Given the description of an element on the screen output the (x, y) to click on. 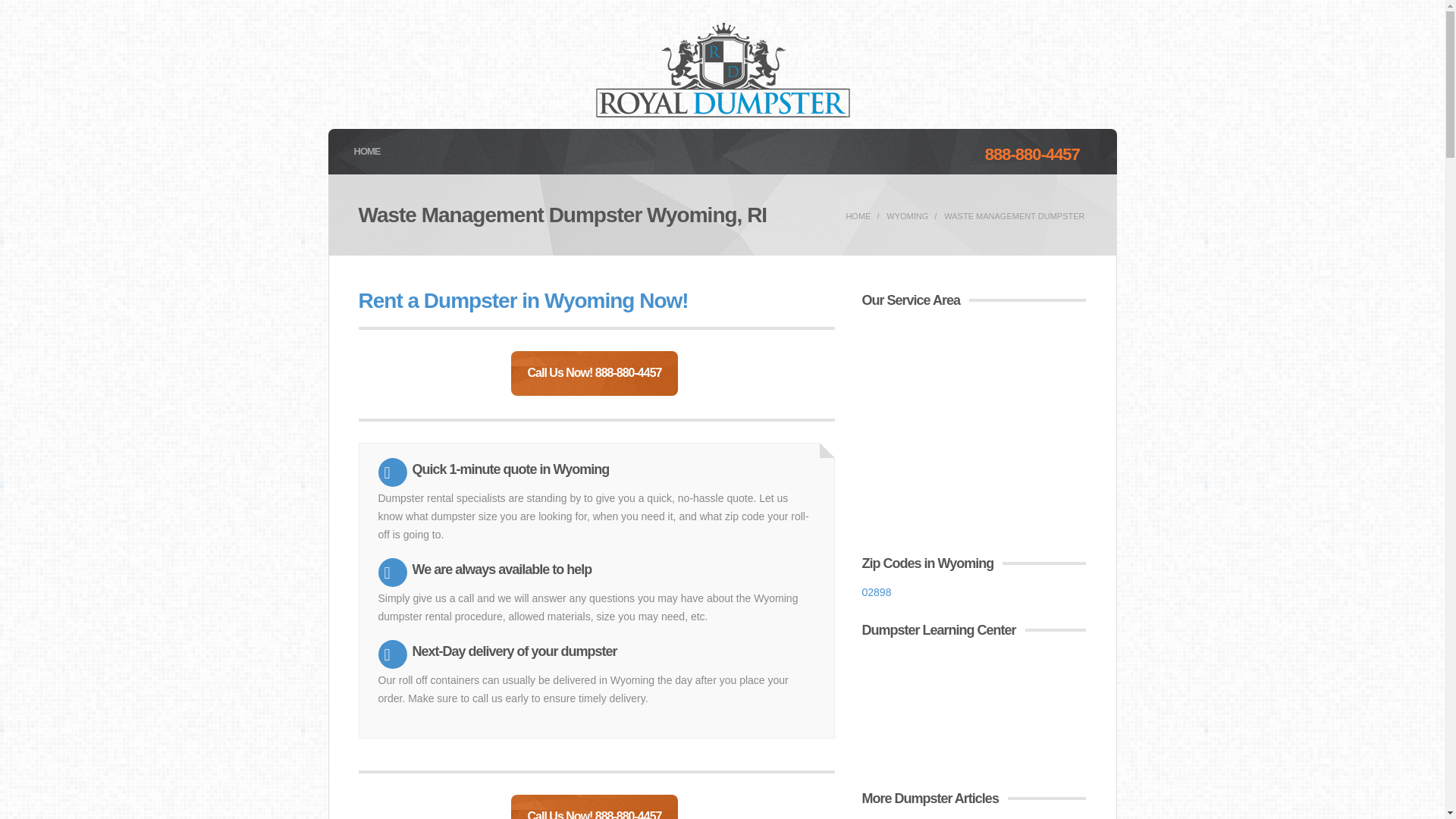
WYOMING (907, 215)
888-880-4457 (1032, 153)
02898 (876, 592)
Call Us Now! 888-880-4457 (594, 806)
HOME (857, 215)
HOME (366, 151)
Call Us Now! 888-880-4457 (594, 373)
